Given the description of an element on the screen output the (x, y) to click on. 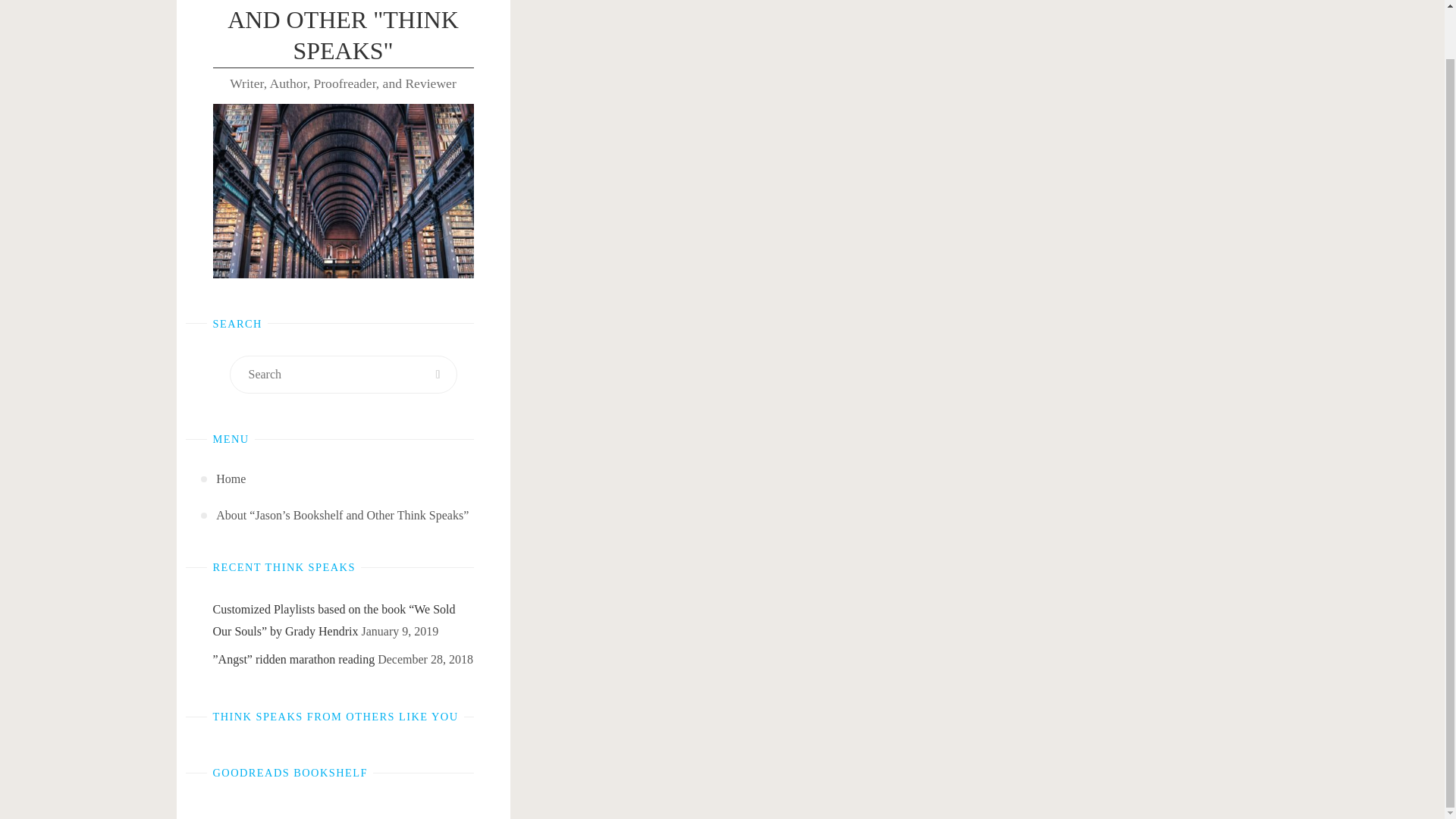
JASON'S BOOKSHELF AND OTHER "THINK SPEAKS" (342, 33)
Writer, Author, Proofreader, and Reviewer (342, 33)
Search (438, 374)
